Given the description of an element on the screen output the (x, y) to click on. 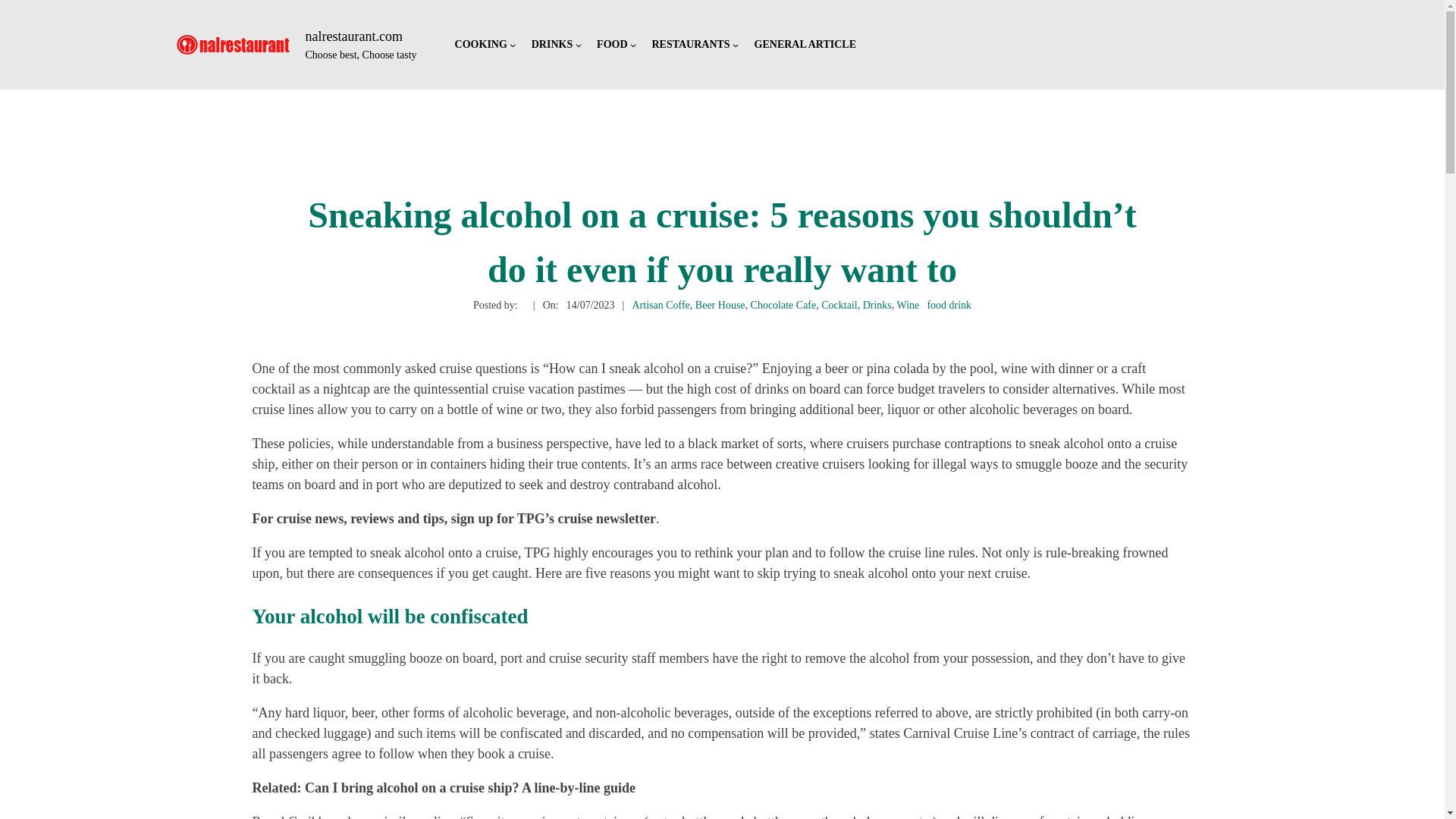
DRINKS (551, 45)
RESTAURANTS (689, 45)
COOKING (480, 45)
Cocktail (839, 305)
Artisan Coffe (660, 305)
Beer House (720, 305)
Drinks (877, 305)
FOOD (611, 45)
nalrestaurant.com (354, 36)
GENERAL ARTICLE (805, 45)
